Given the description of an element on the screen output the (x, y) to click on. 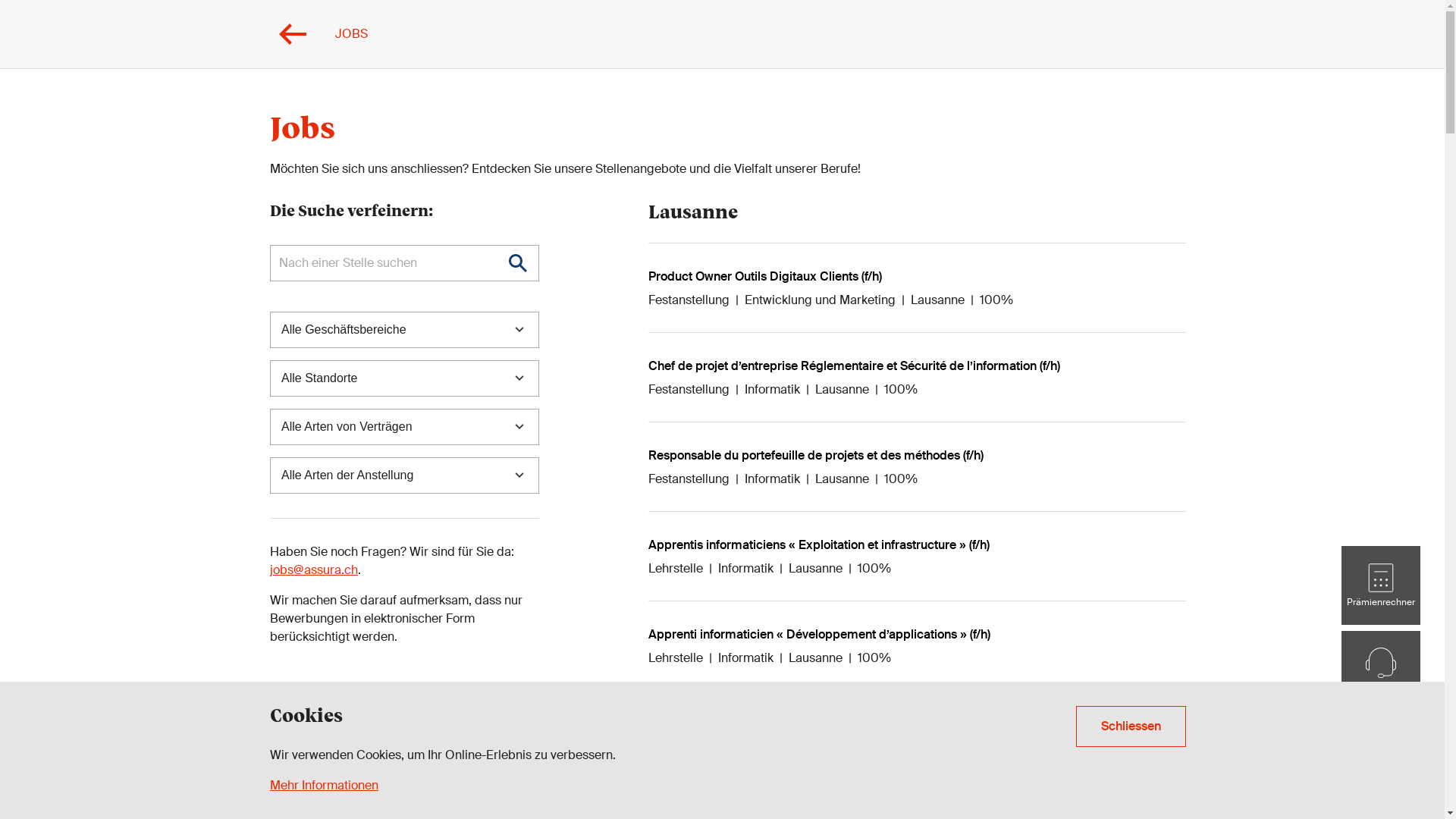
JOBS Element type: text (318, 33)
jobs@assura.ch Element type: text (313, 569)
Mehr Informationen Element type: text (323, 785)
Product Owner Outils Digitaux Clients (f/h) Element type: text (764, 276)
Schliessen Element type: text (1131, 726)
